Given the description of an element on the screen output the (x, y) to click on. 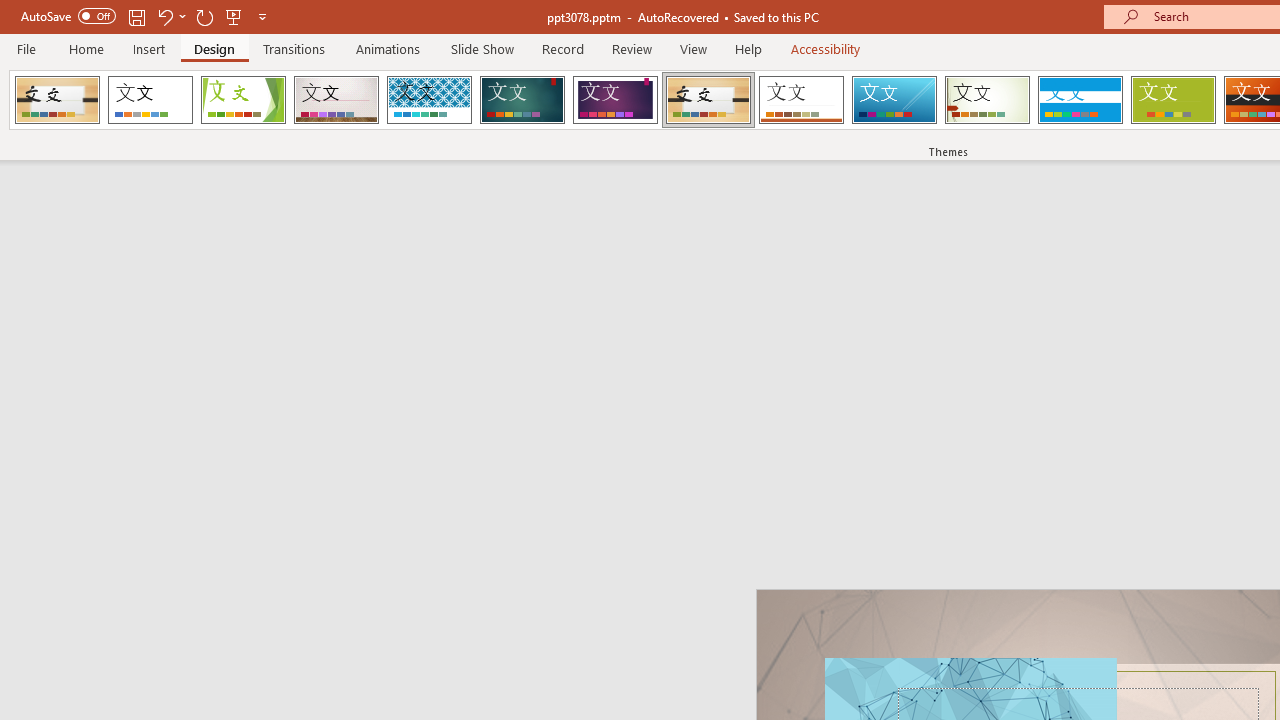
Facet (243, 100)
Office Theme (150, 100)
Banded (1080, 100)
Slice (893, 100)
